Given the description of an element on the screen output the (x, y) to click on. 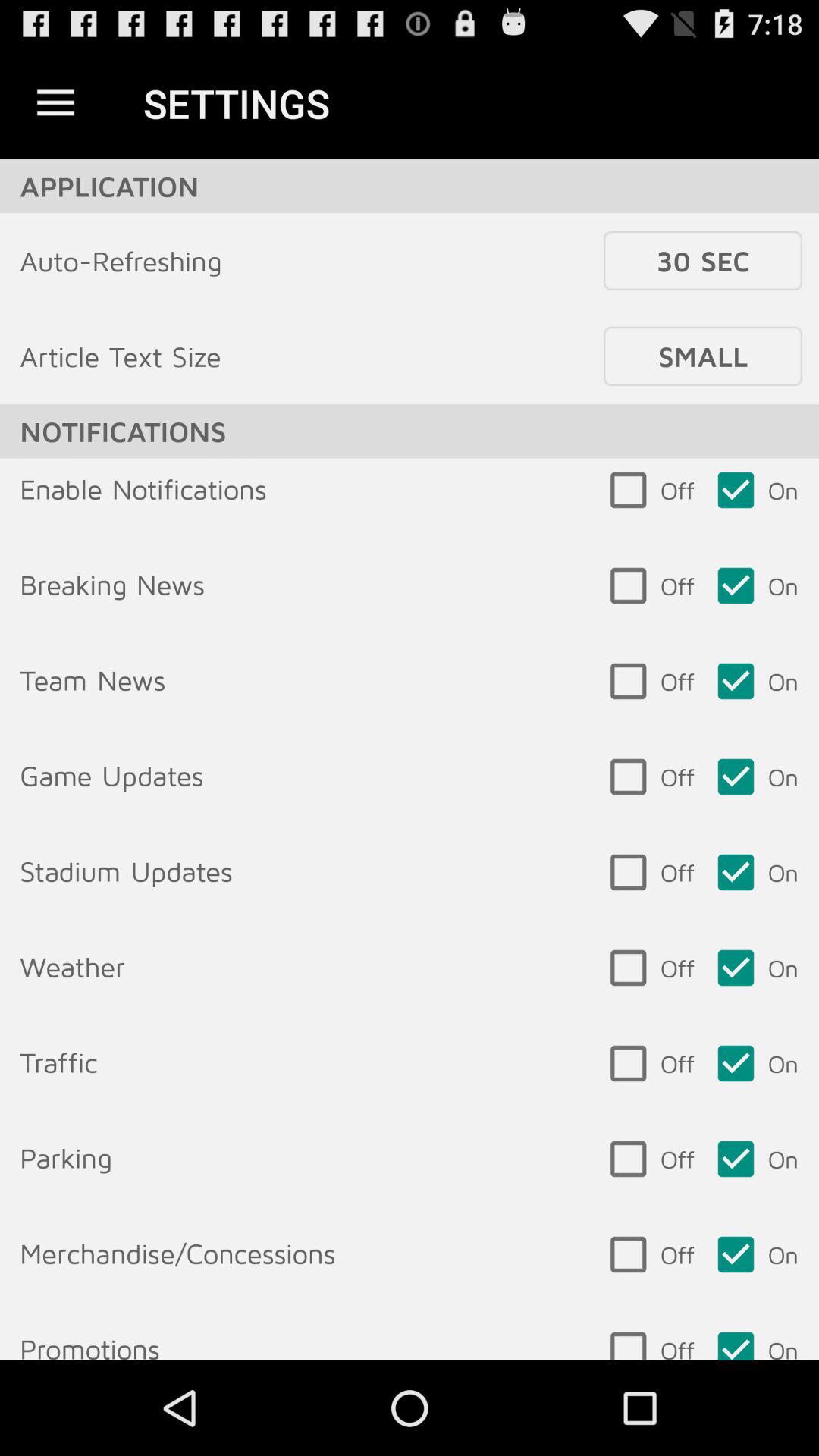
tap item above the application item (55, 103)
